Given the description of an element on the screen output the (x, y) to click on. 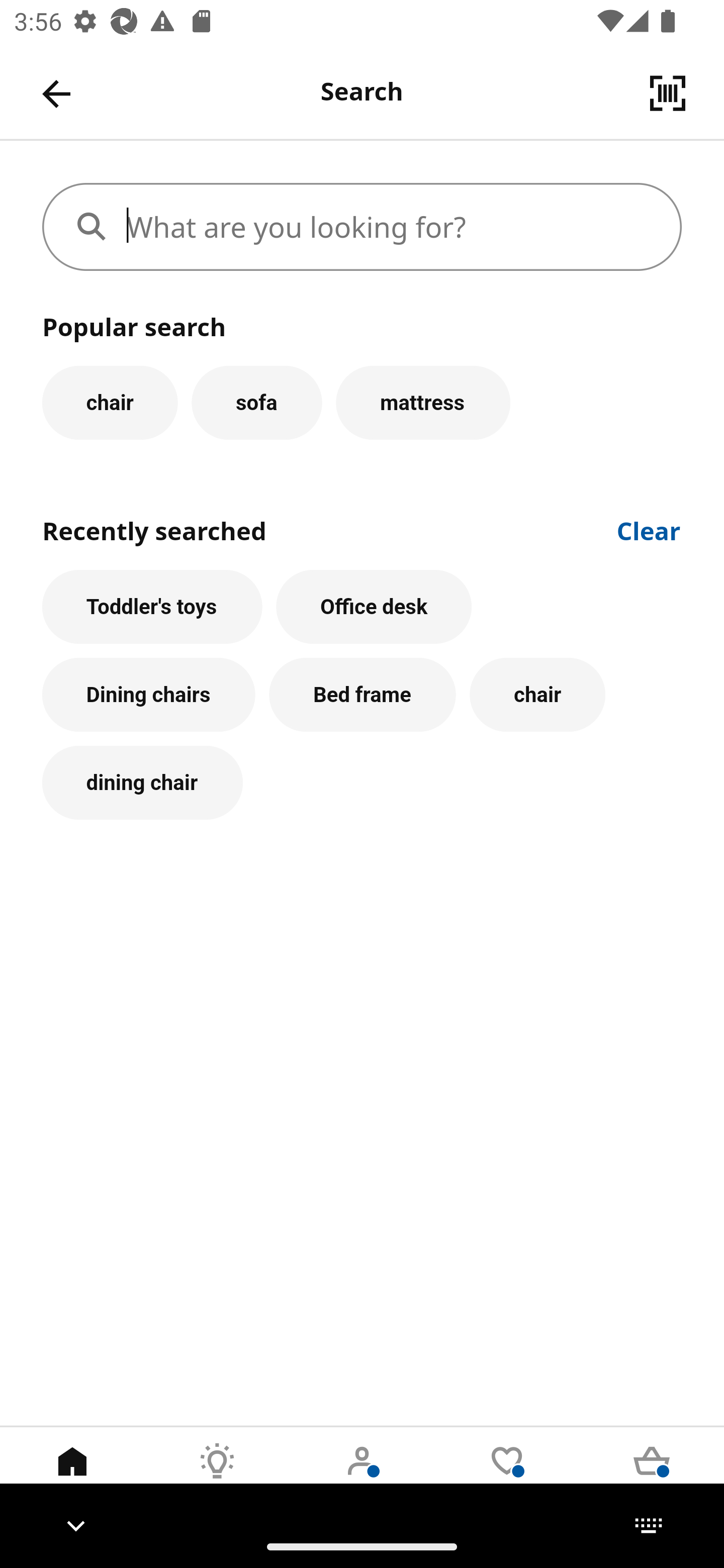
chair (109, 402)
sofa (256, 402)
mattress (423, 402)
Clear (649, 528)
Toddler's toys (151, 606)
Office desk (373, 606)
Dining chairs (148, 695)
Bed frame (362, 695)
chair (537, 695)
dining chair (141, 783)
Home
Tab 1 of 5 (72, 1476)
Inspirations
Tab 2 of 5 (216, 1476)
User
Tab 3 of 5 (361, 1476)
Wishlist
Tab 4 of 5 (506, 1476)
Cart
Tab 5 of 5 (651, 1476)
